Given the description of an element on the screen output the (x, y) to click on. 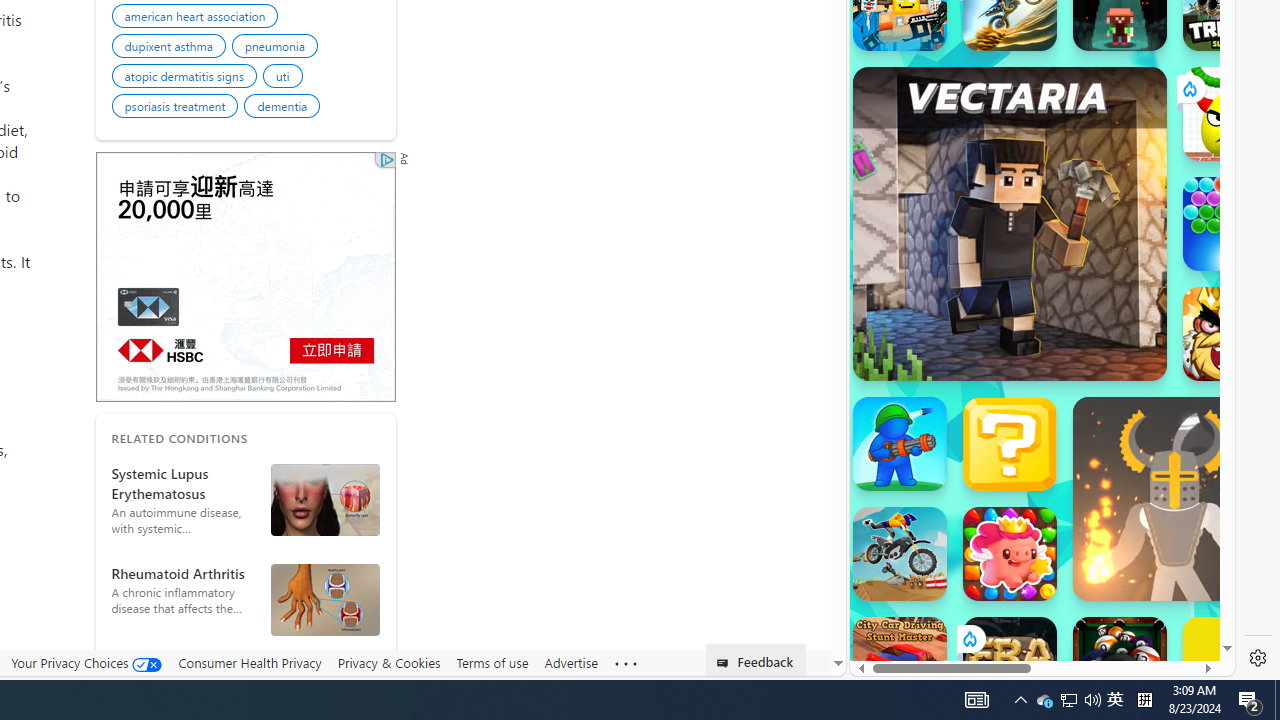
Class: rCs5cyEiqiTpYvt_VBCR (968, 638)
Class: qc-adchoices-link top-right  (385, 159)
Combat Reloaded (1090, 290)
Ragdoll Hit Ragdoll Hit (1174, 498)
Like a King Like a King (1229, 333)
Poki (1034, 606)
Like a King (1229, 333)
psoriasis treatment (177, 108)
Bubble Shooter Bubble Shooter (1229, 223)
Class: qc-adchoices-icon (387, 159)
Bubble Shooter (1229, 223)
War Master (899, 443)
